Given the description of an element on the screen output the (x, y) to click on. 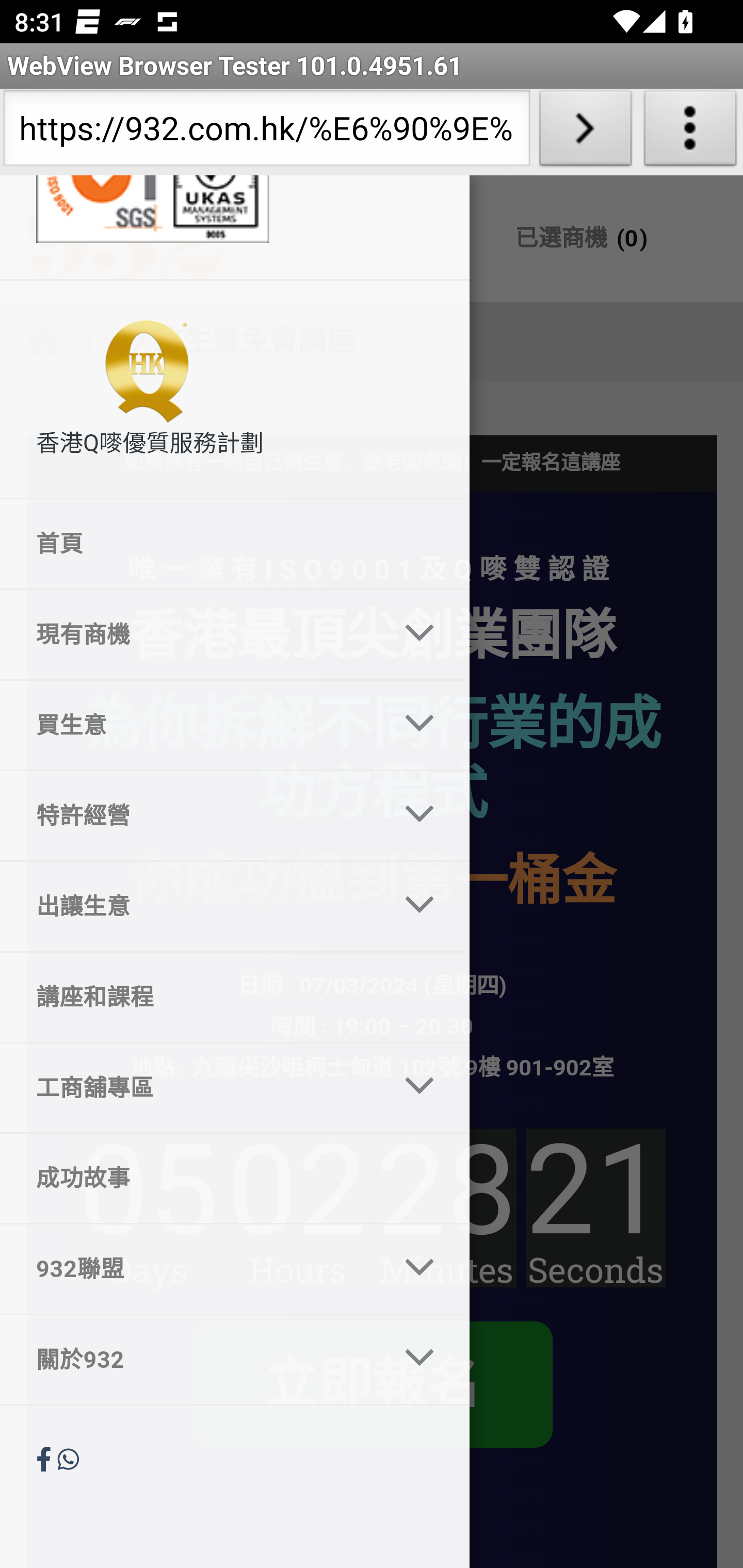
Load URL (585, 132)
About WebView (690, 132)
首頁 (234, 544)
現有商機 (190, 634)
Toggle (420, 633)
買生意 (190, 725)
Toggle (420, 725)
特許經營 (190, 815)
Toggle (420, 815)
出讓生意 (190, 905)
Toggle (420, 906)
講座和課程 (234, 996)
工商舖專區 (190, 1087)
Toggle (420, 1087)
成功故事 (234, 1178)
932聯盟 (190, 1268)
Toggle (420, 1270)
關於932 (190, 1358)
Toggle (420, 1359)
 (46, 1459)
 (67, 1459)
